Given the description of an element on the screen output the (x, y) to click on. 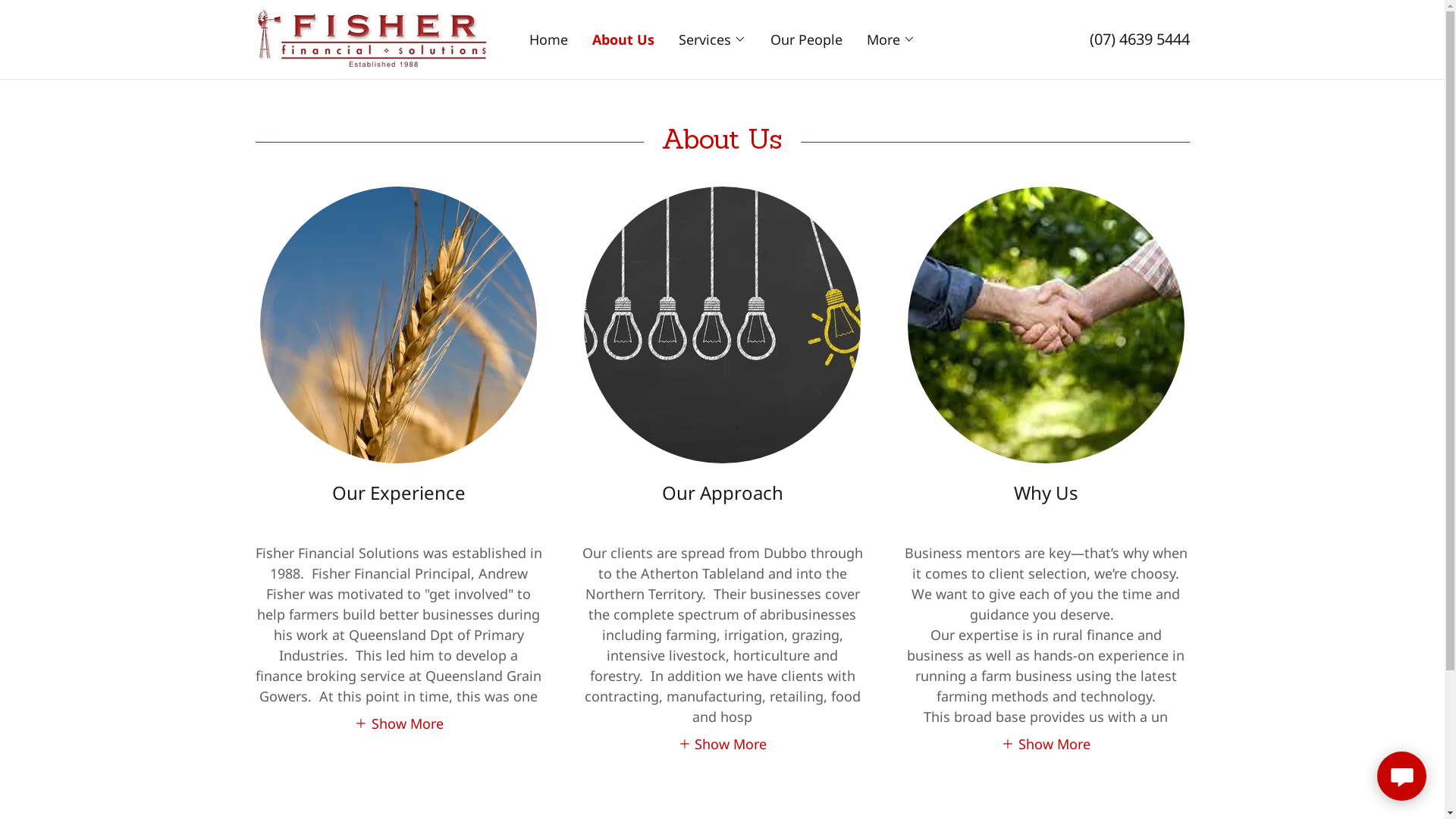
Show More Element type: text (722, 743)
More Element type: text (890, 39)
About Us Element type: text (623, 39)
Our People Element type: text (806, 39)
Show More Element type: text (1045, 743)
(07) 4639 5444 Element type: text (1138, 38)
Home Element type: text (548, 39)
Fisher Financial Solutions Element type: hover (370, 37)
Services Element type: text (712, 39)
Show More Element type: text (398, 722)
